Given the description of an element on the screen output the (x, y) to click on. 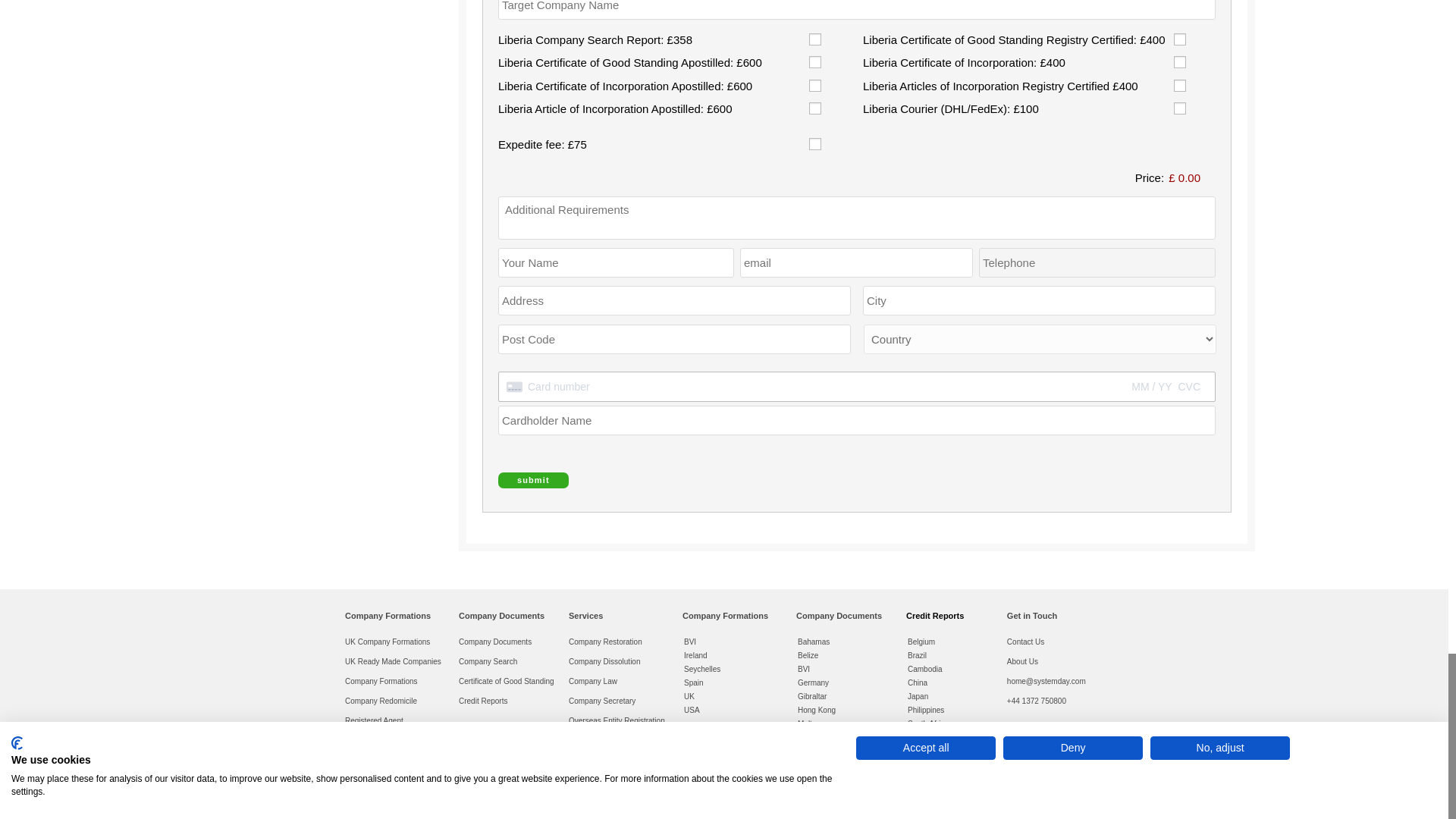
Secure card payment input frame (856, 386)
submit (533, 480)
